Given the description of an element on the screen output the (x, y) to click on. 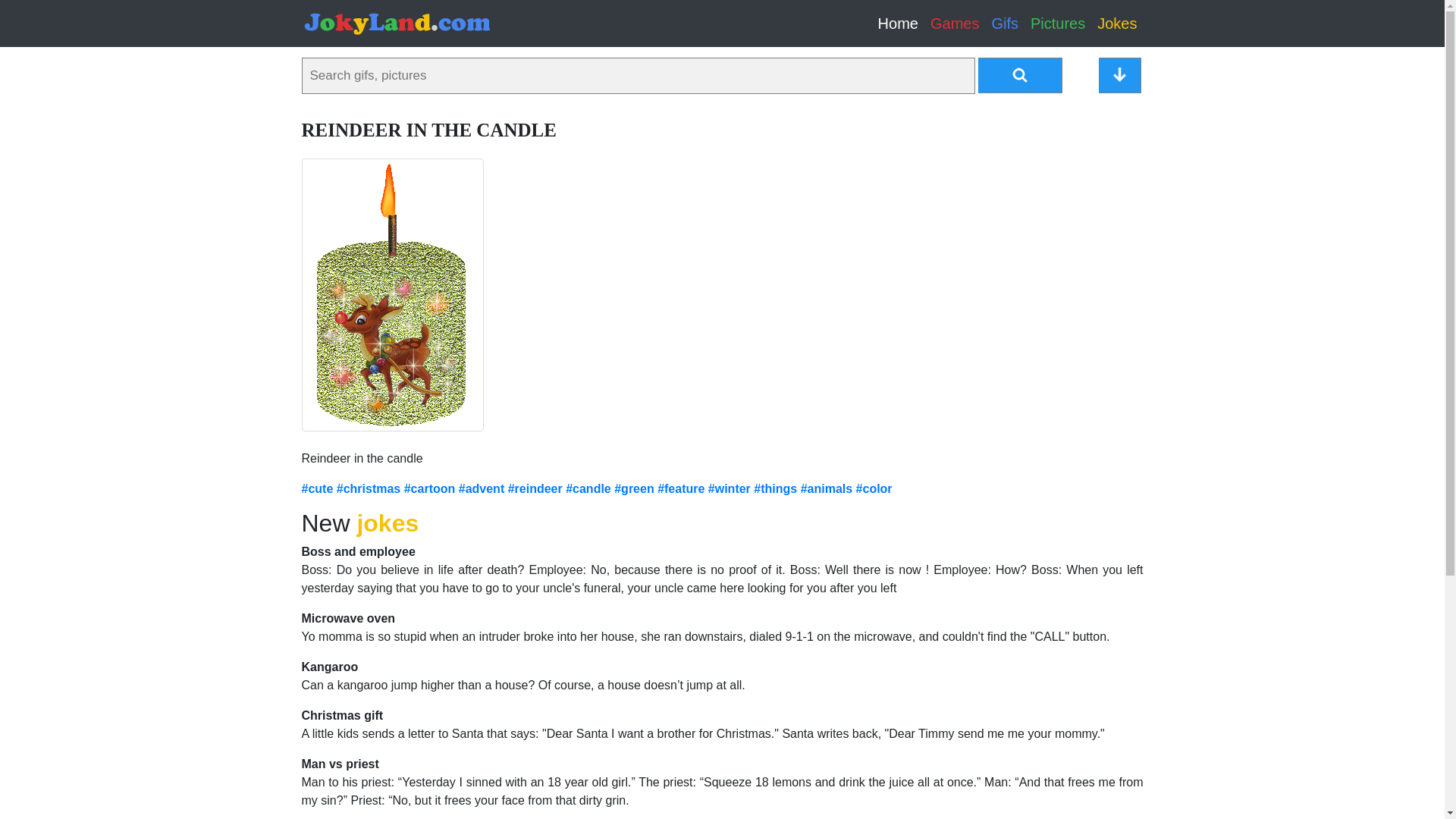
Gifs (1005, 22)
jokes (387, 523)
Pictures (1057, 22)
Jokes (1116, 22)
Games (954, 22)
